Given the description of an element on the screen output the (x, y) to click on. 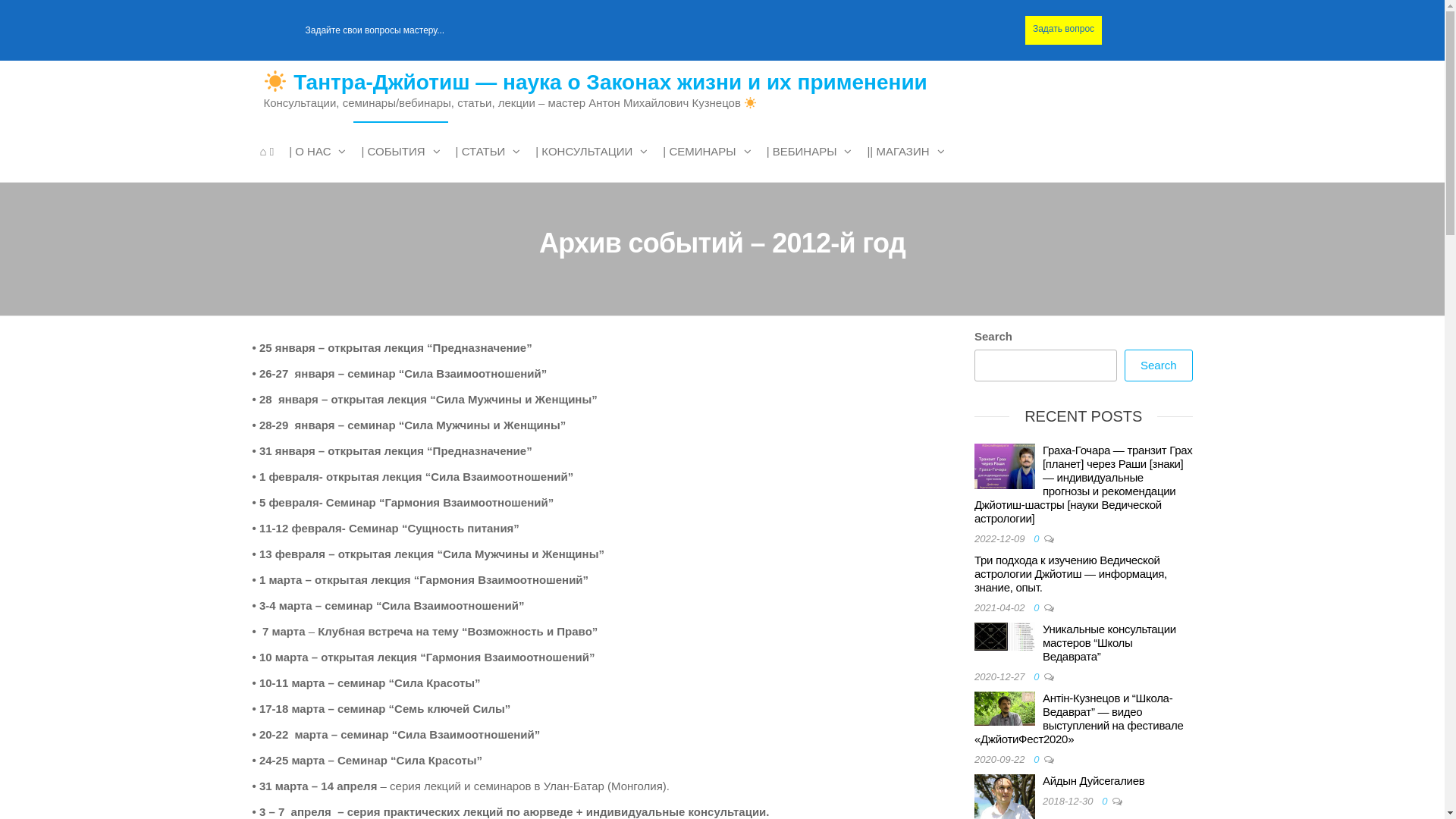
Search Element type: text (1158, 365)
0 Element type: text (1038, 759)
0 Element type: text (1038, 607)
0 Element type: text (1038, 538)
0 Element type: text (1106, 800)
0 Element type: text (1038, 676)
